Given the description of an element on the screen output the (x, y) to click on. 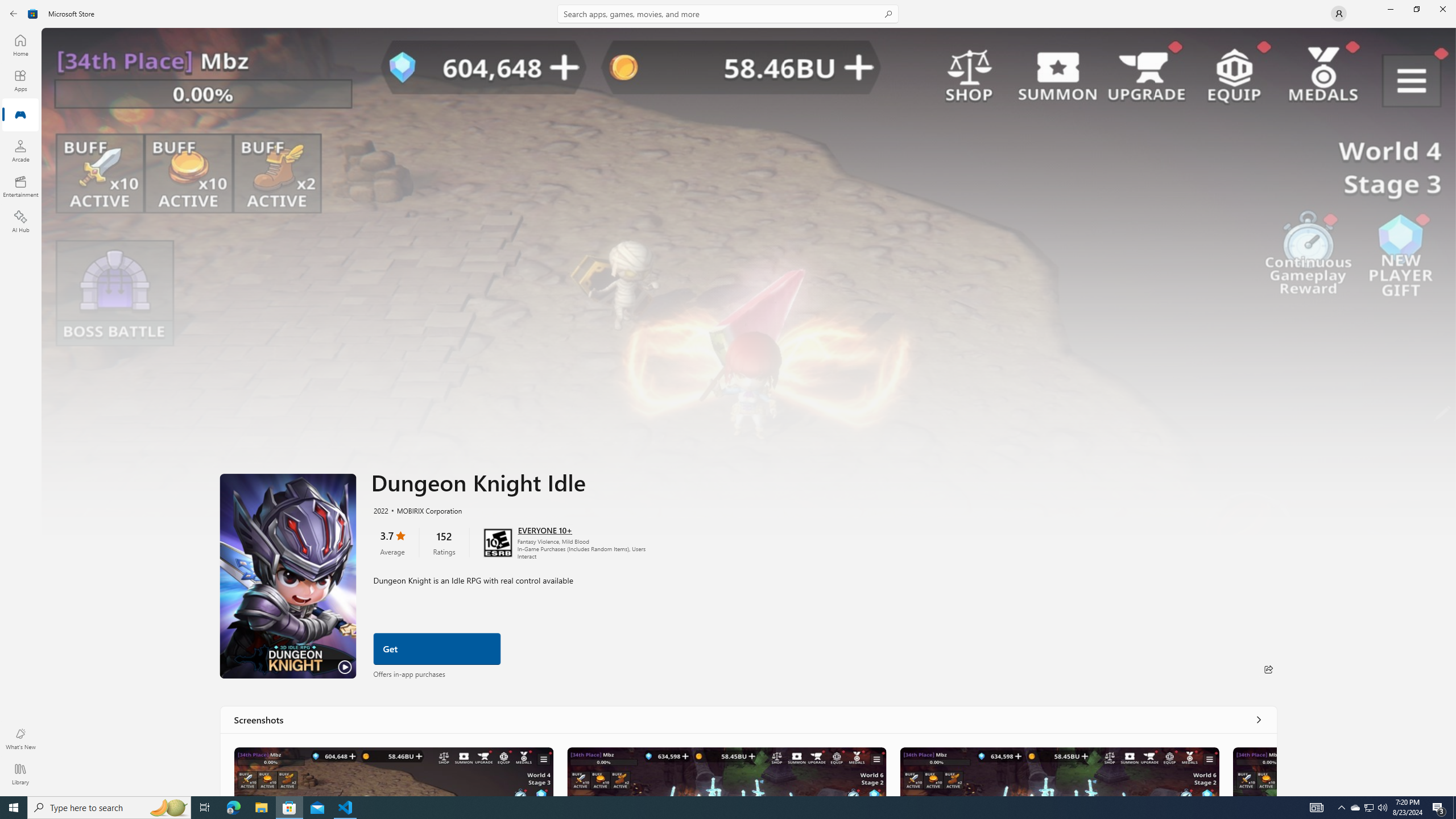
Play Trailer (287, 575)
Screenshot 4 (1253, 771)
AutomationID: NavigationControl (728, 398)
3.7 stars. Click to skip to ratings and reviews (391, 541)
Get (436, 649)
Screenshot 3 (1058, 771)
